Given the description of an element on the screen output the (x, y) to click on. 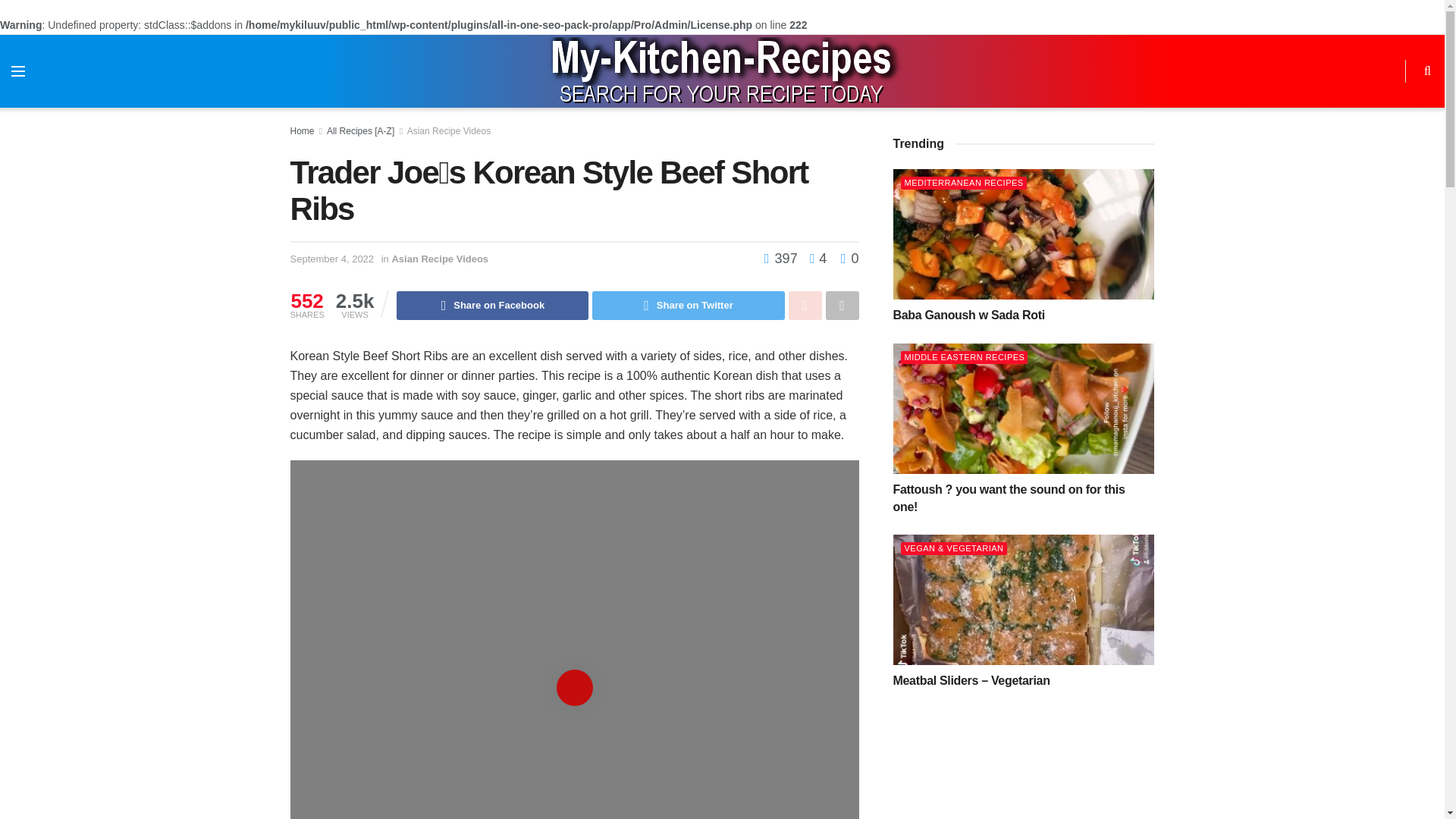
Asian Recipe Videos (439, 258)
Home (301, 131)
Share on Facebook (492, 305)
0 (850, 258)
Asian Recipe Videos (449, 131)
397 (783, 258)
Share on Twitter (688, 305)
4 (814, 258)
September 4, 2022 (331, 258)
